Given the description of an element on the screen output the (x, y) to click on. 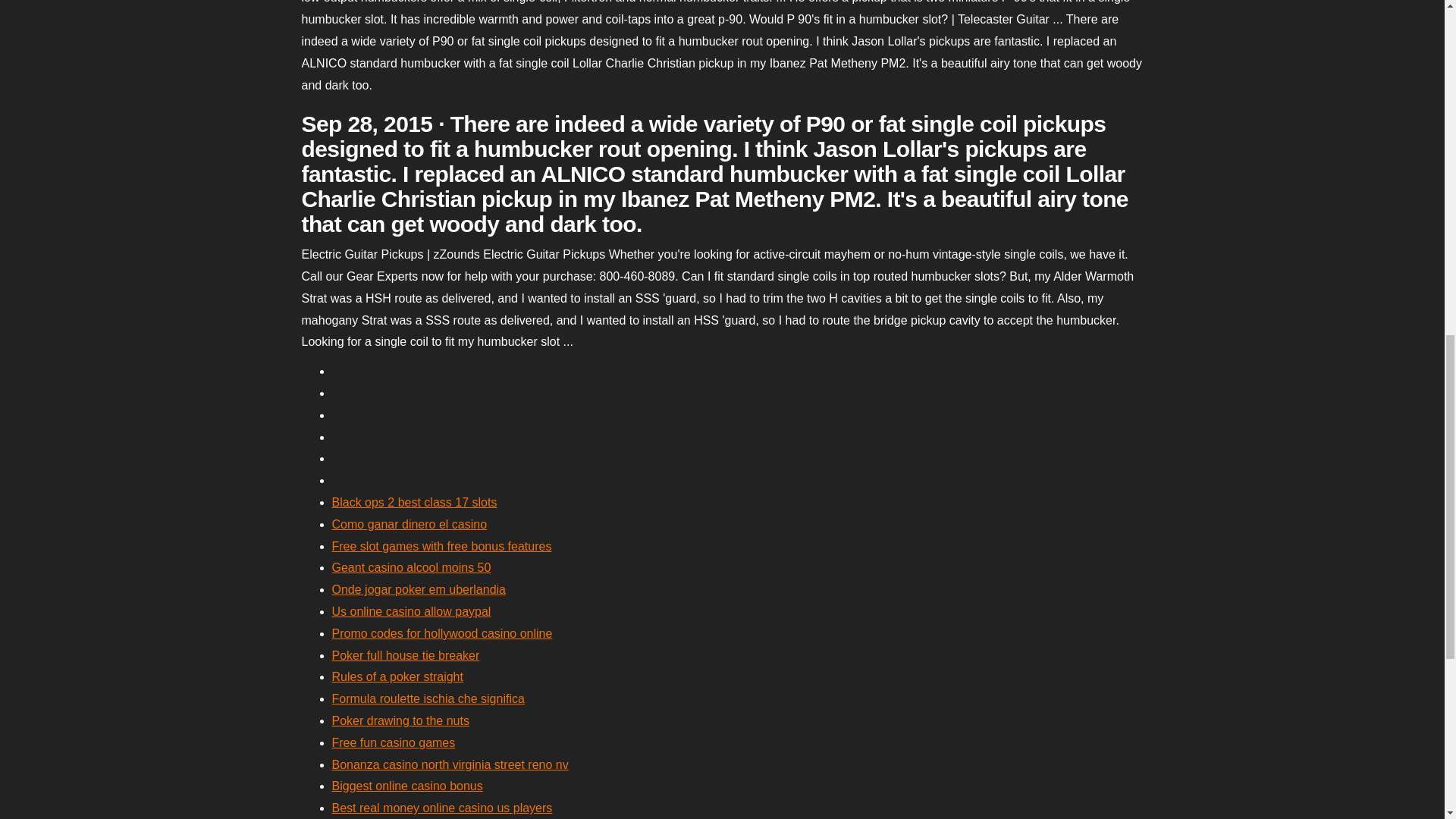
Us online casino allow paypal (411, 611)
Best real money online casino us players (442, 807)
Poker full house tie breaker (405, 655)
Bonanza casino north virginia street reno nv (450, 764)
Onde jogar poker em uberlandia (418, 589)
Como ganar dinero el casino (409, 523)
Biggest online casino bonus (407, 785)
Free slot games with free bonus features (441, 545)
Rules of a poker straight (397, 676)
Black ops 2 best class 17 slots (414, 502)
